Given the description of an element on the screen output the (x, y) to click on. 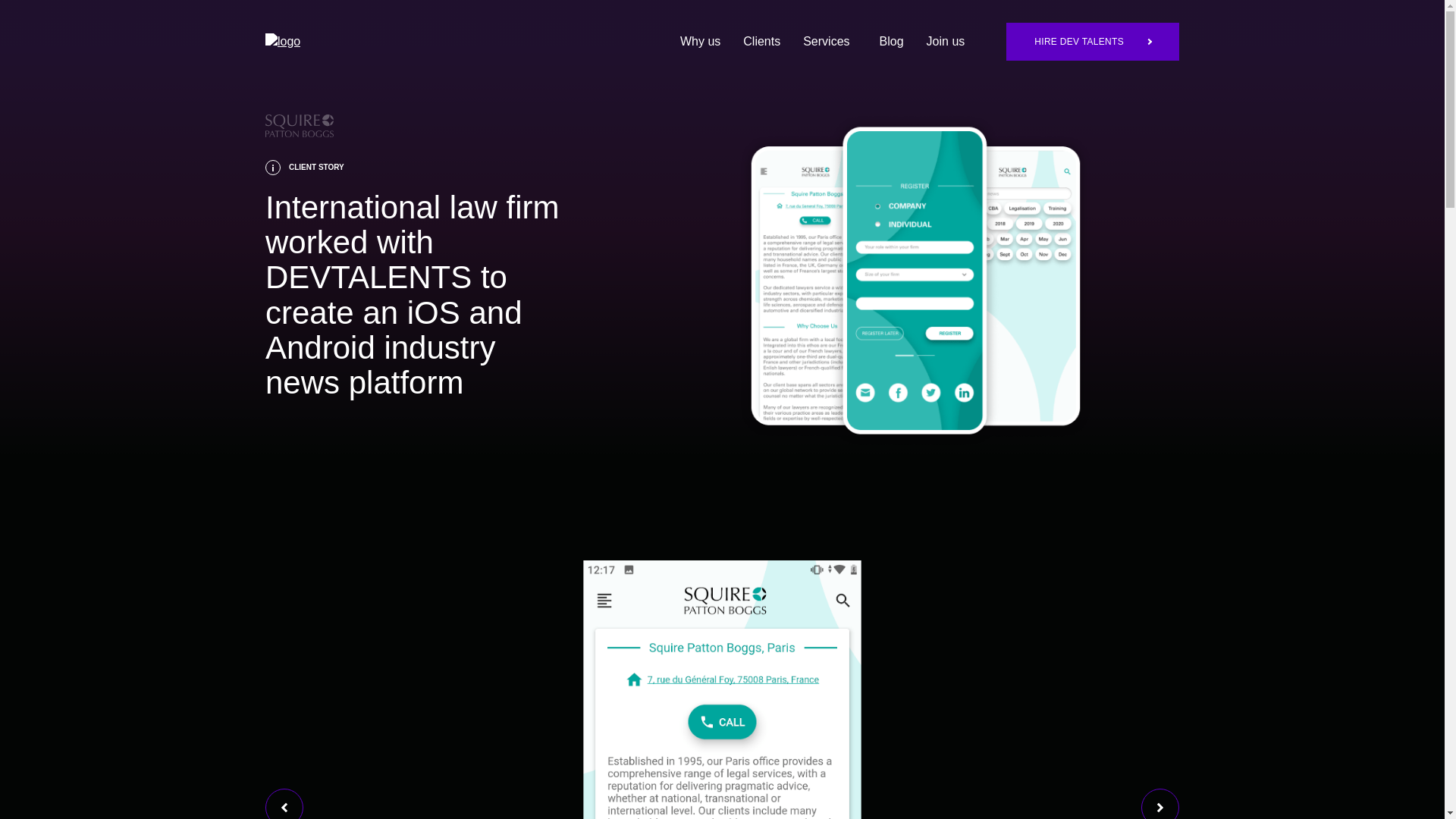
HIRE DEV TALENTS (1092, 41)
Blog (891, 42)
Why us (699, 42)
Clients (761, 42)
Join us (945, 42)
Services (829, 42)
DEVTALENTS (281, 40)
